Given the description of an element on the screen output the (x, y) to click on. 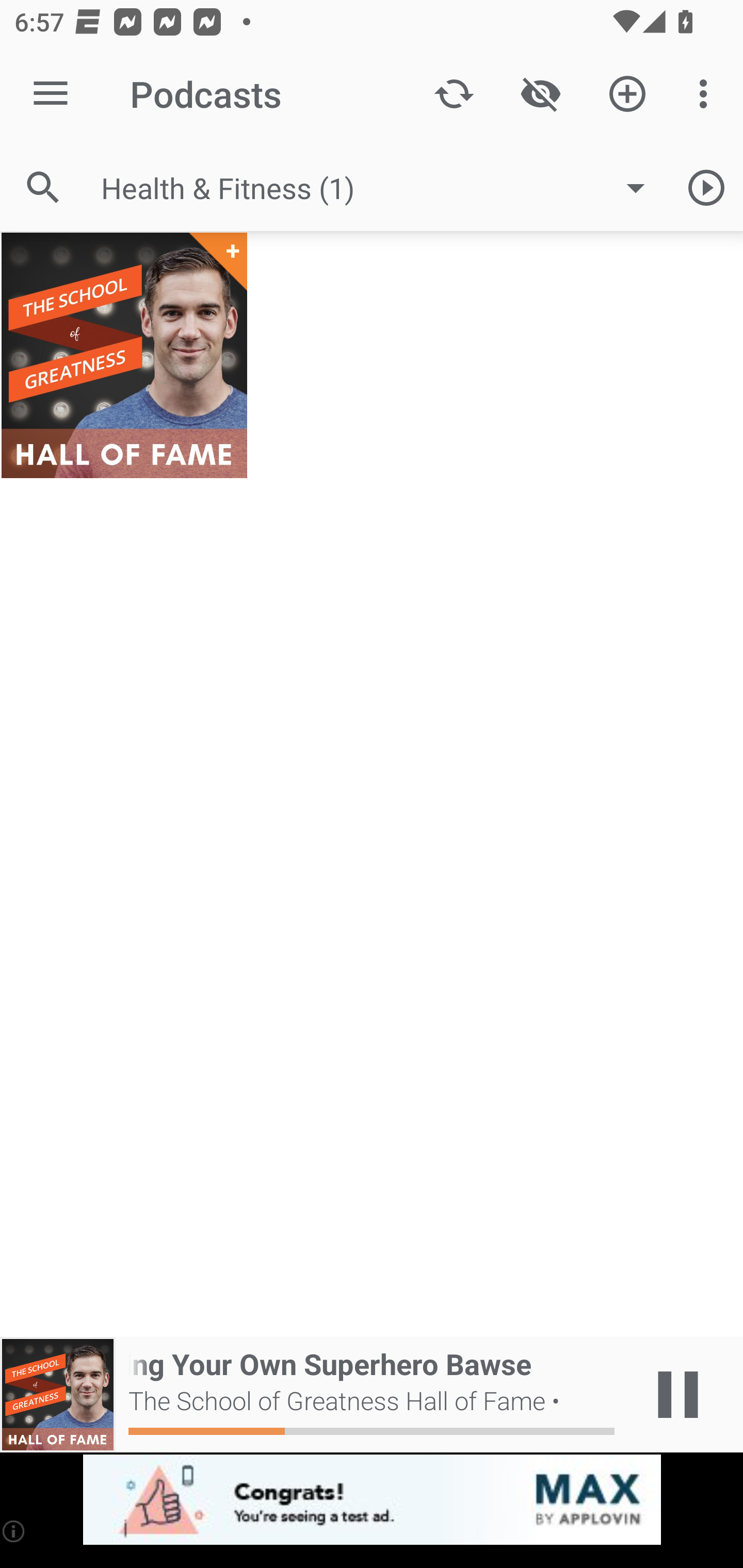
Open navigation sidebar (50, 93)
Update (453, 93)
Show / Hide played content (540, 93)
Add new Podcast (626, 93)
More options (706, 93)
Search (43, 187)
Health & Fitness (1) (382, 188)
The School of Greatness Hall of Fame + (124, 355)
Play / Pause (677, 1394)
app-monetization (371, 1500)
(i) (14, 1531)
